Given the description of an element on the screen output the (x, y) to click on. 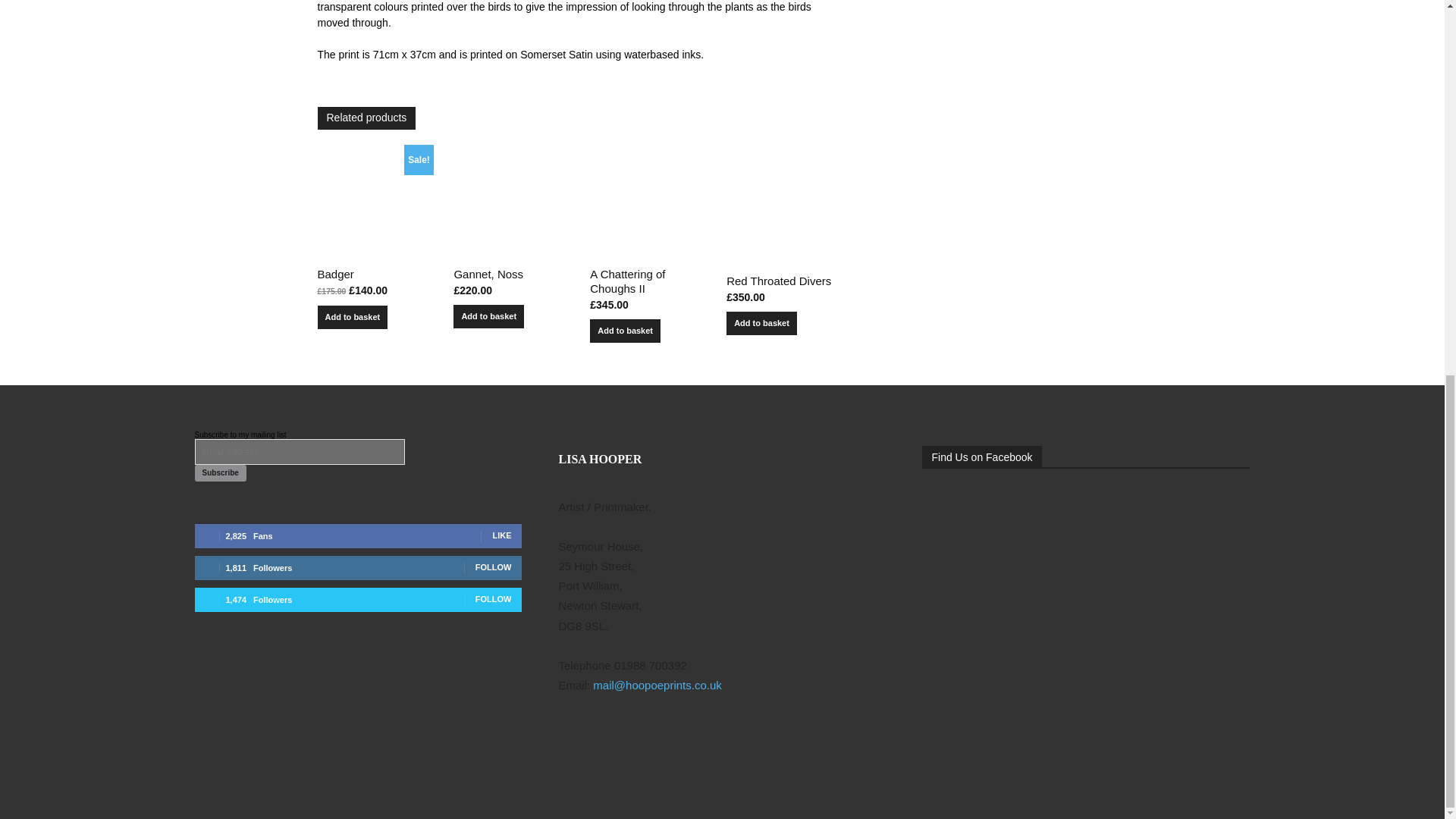
Subscribe (219, 473)
